Given the description of an element on the screen output the (x, y) to click on. 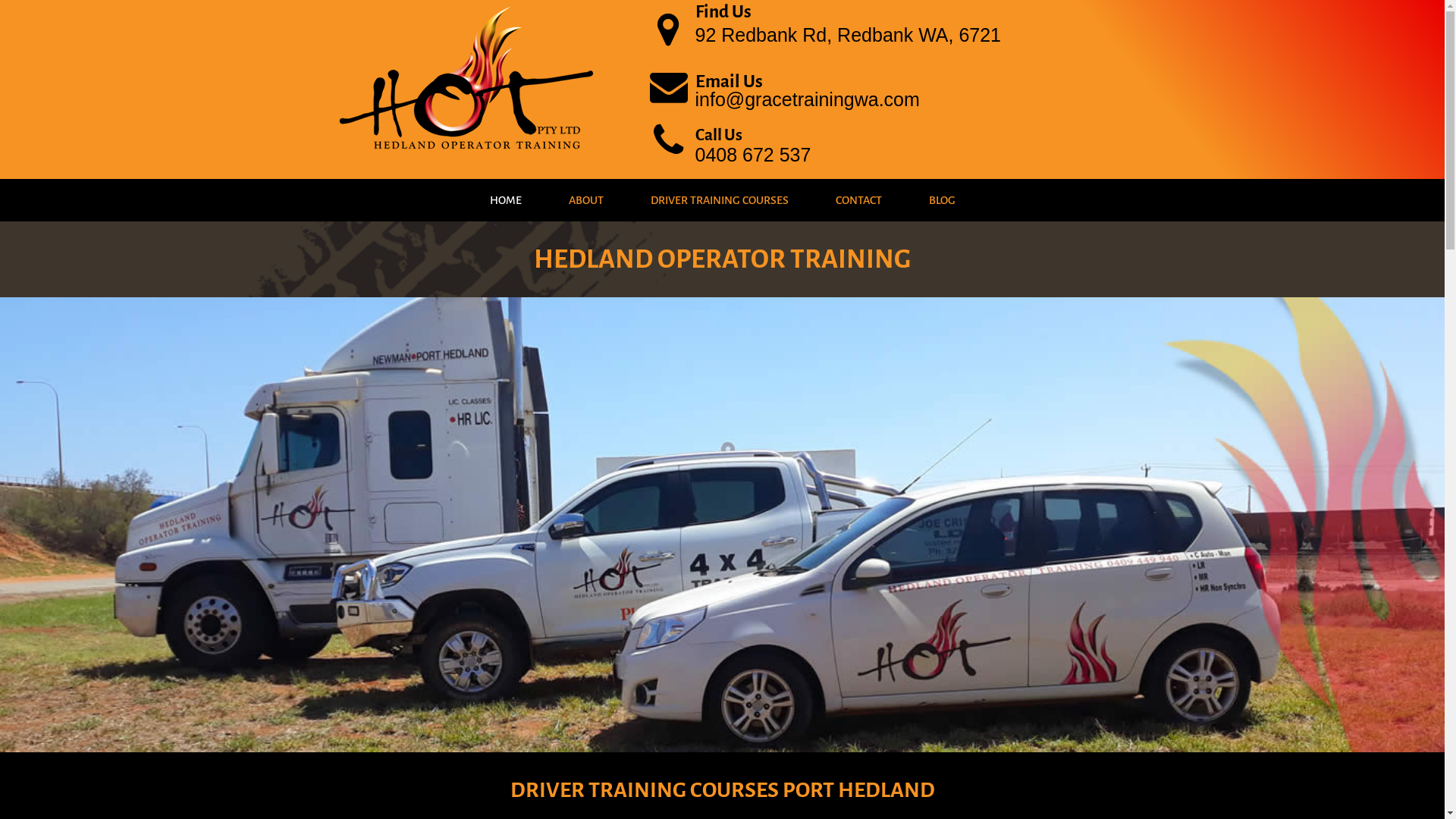
ABOUT Element type: text (585, 199)
CONTACT Element type: text (857, 199)
HOME Element type: text (504, 199)
Call Us Element type: text (717, 135)
BLOG Element type: text (942, 199)
DRIVER TRAINING COURSES Element type: text (718, 199)
Email Us Element type: text (728, 81)
